Given the description of an element on the screen output the (x, y) to click on. 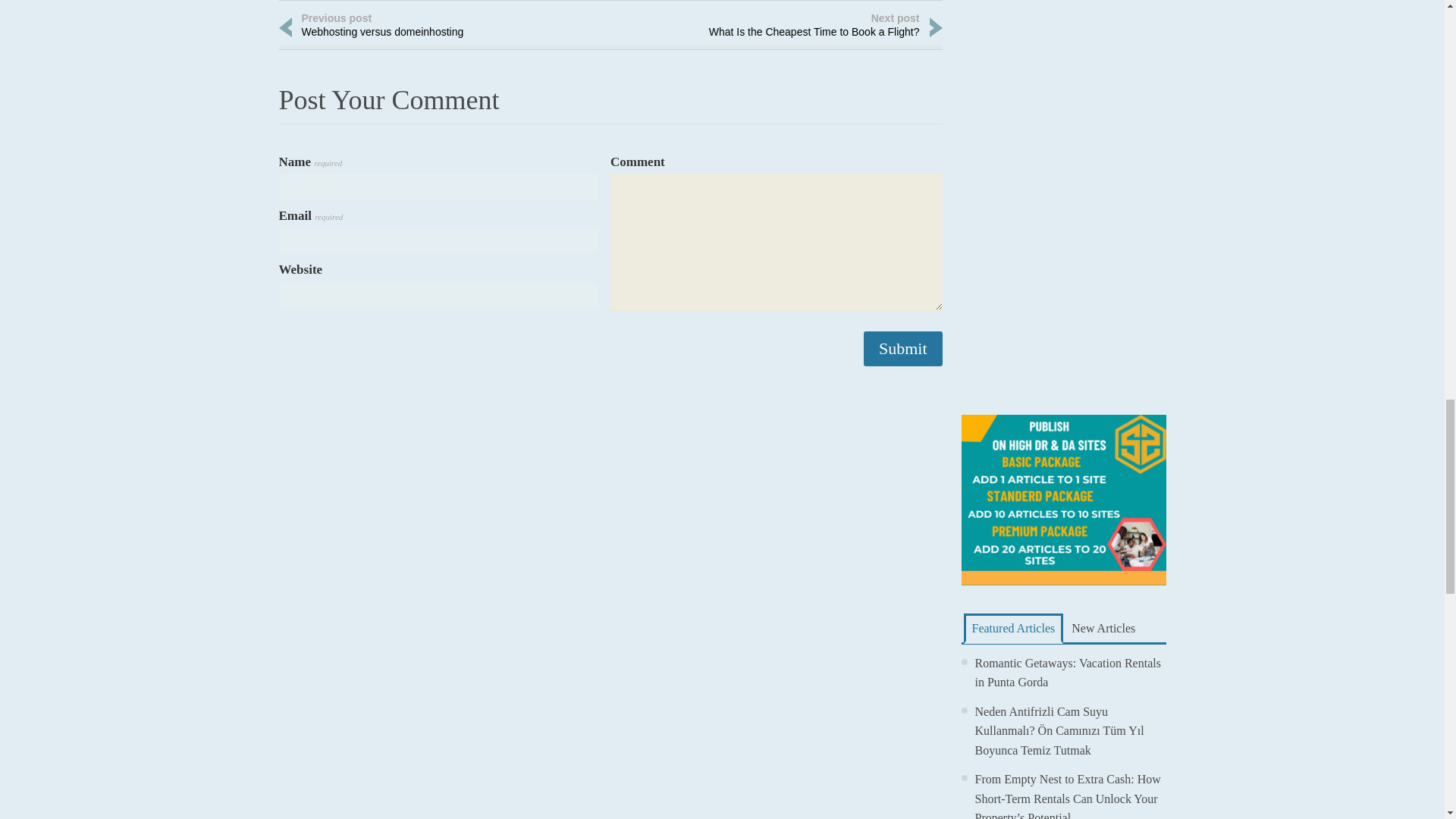
Featured Articles (1012, 628)
Submit (902, 348)
Romantic Getaways: Vacation Rentals in Punta Gorda (1067, 672)
New Articles (797, 27)
New Articles (1103, 627)
Featured Articles (1103, 627)
Submit (1012, 628)
